Given the description of an element on the screen output the (x, y) to click on. 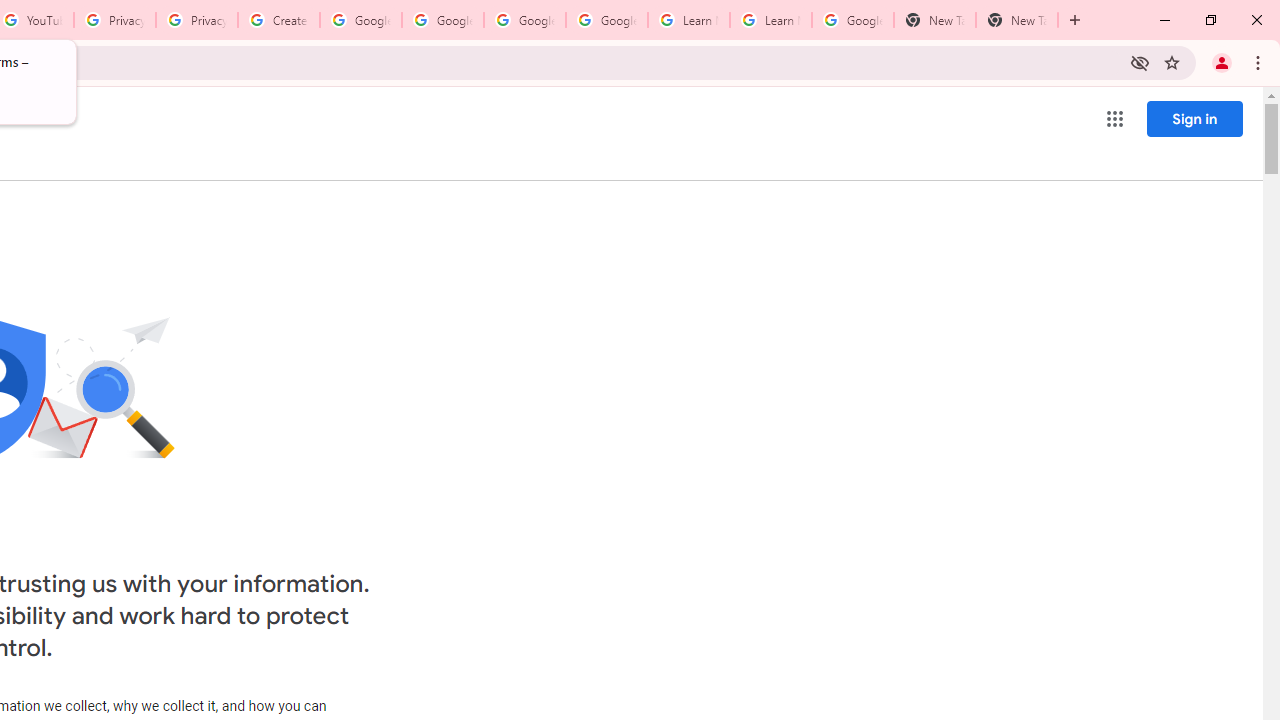
Google Account (852, 20)
New Tab (934, 20)
